Given the description of an element on the screen output the (x, y) to click on. 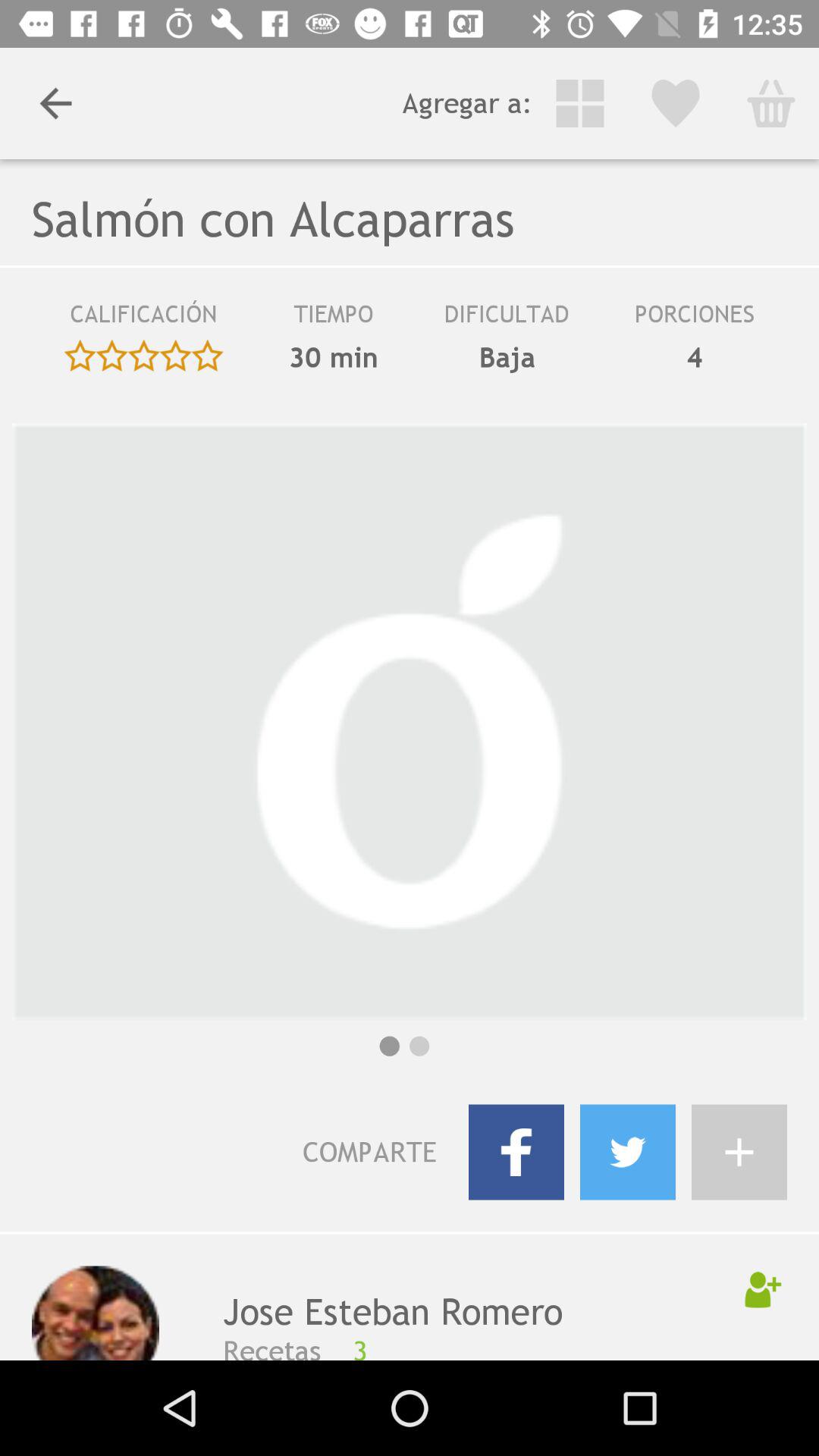
launch the icon above the recetas item (465, 1312)
